Given the description of an element on the screen output the (x, y) to click on. 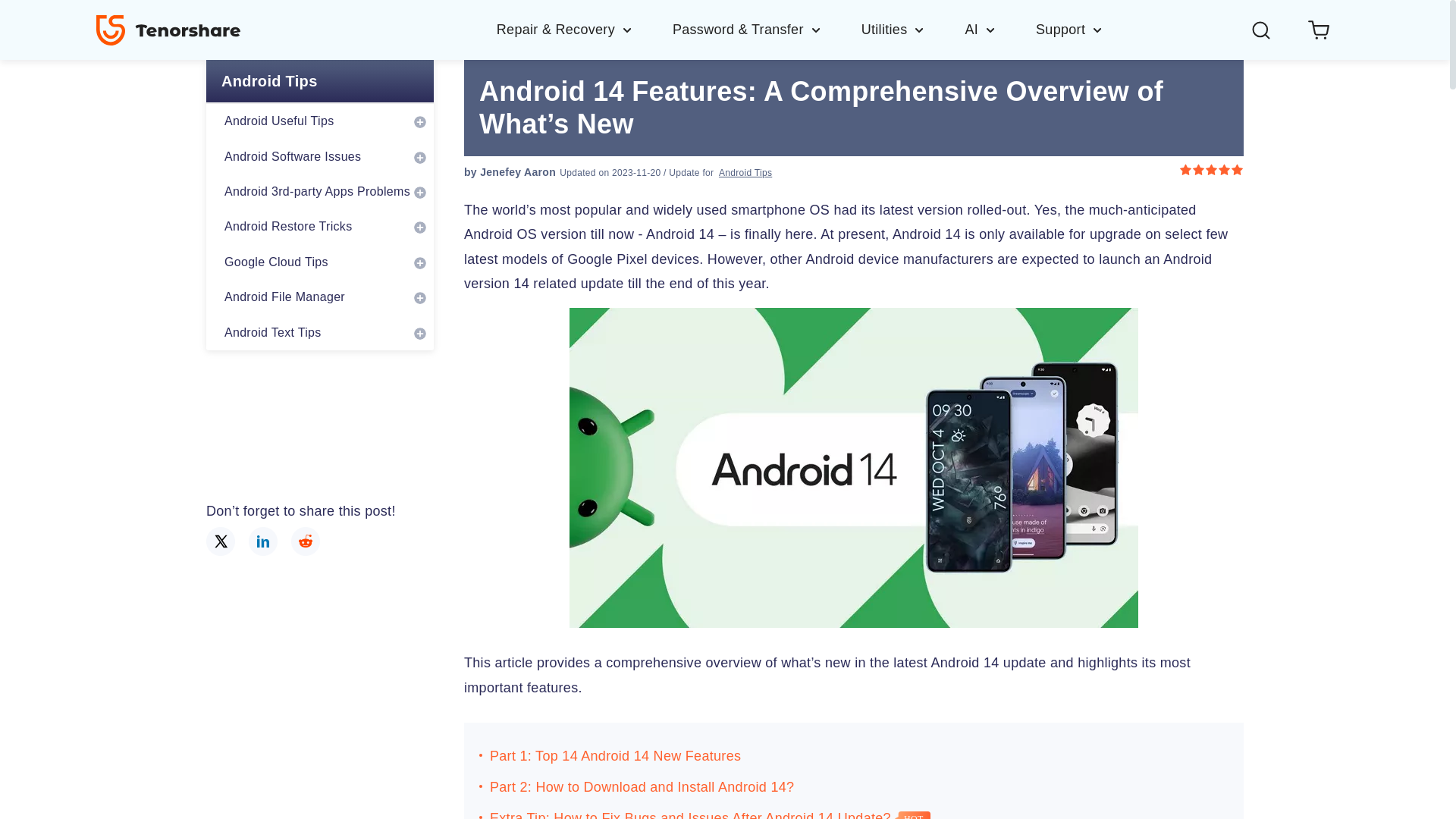
Utilities (913, 29)
HOT (912, 815)
Support (1069, 29)
AI (999, 29)
